Given the description of an element on the screen output the (x, y) to click on. 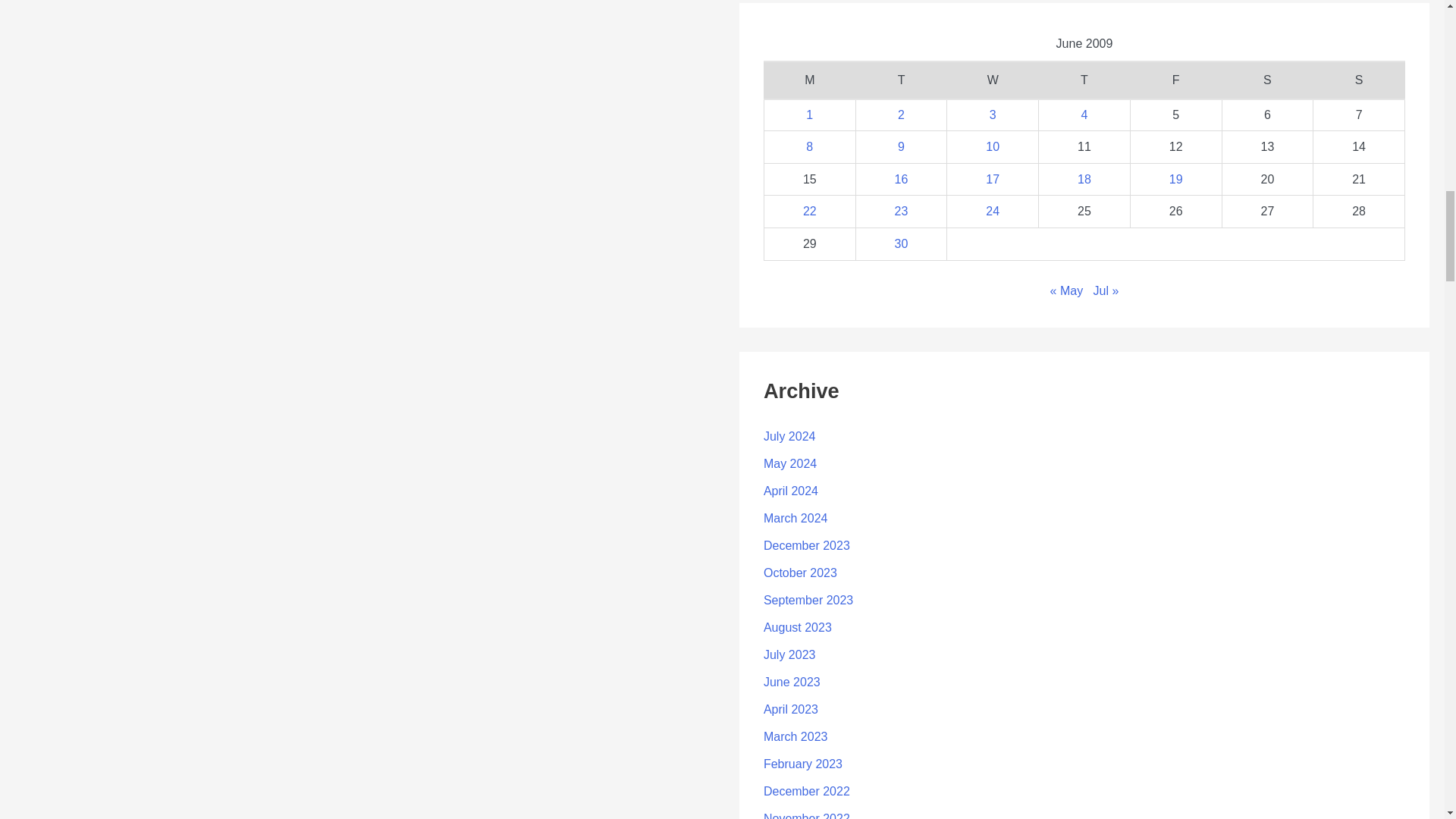
Thursday (1085, 80)
Monday (809, 80)
Tuesday (901, 80)
Wednesday (993, 80)
